Given the description of an element on the screen output the (x, y) to click on. 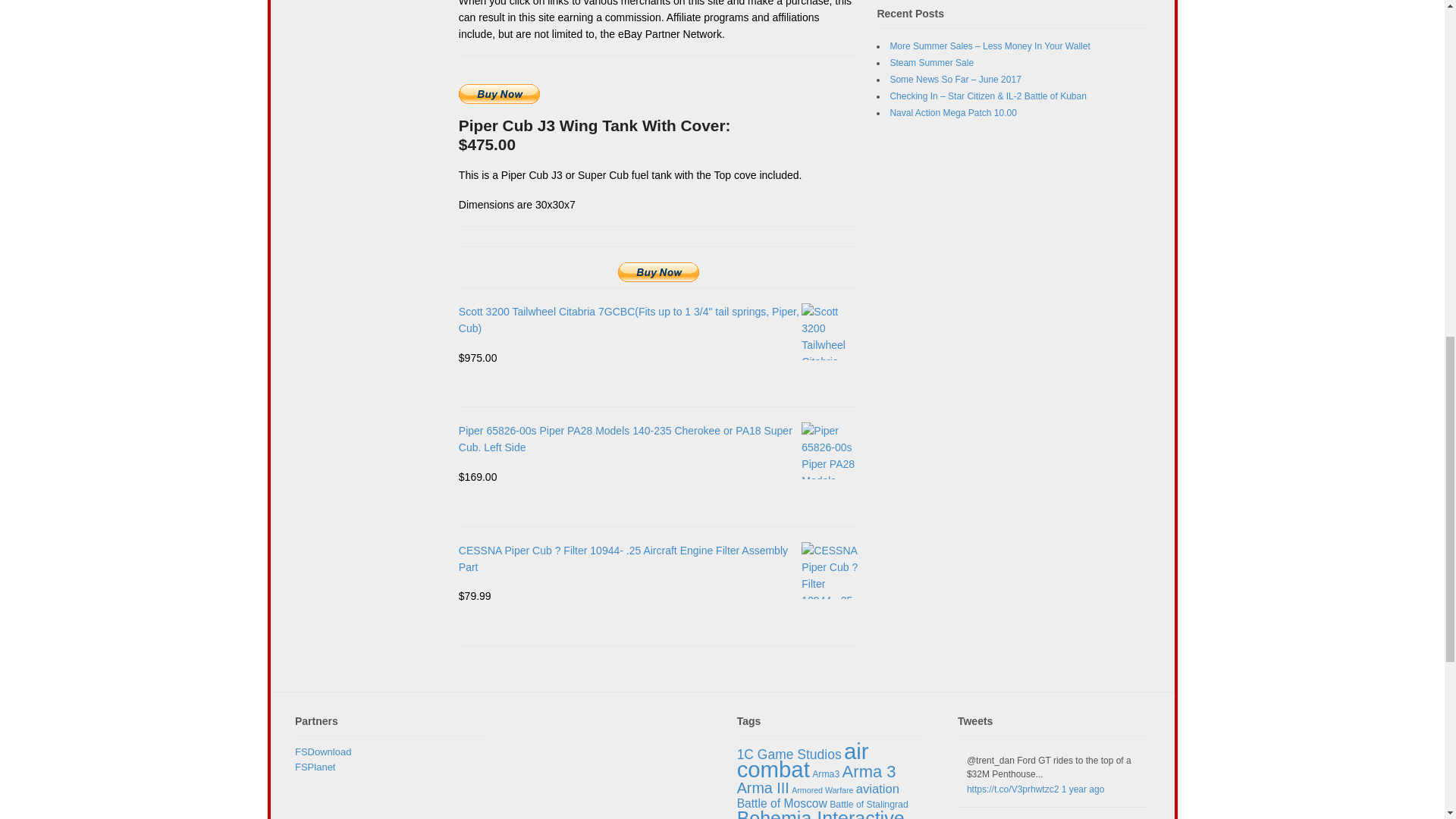
Buy Now (657, 271)
Buy Now (499, 94)
